Given the description of an element on the screen output the (x, y) to click on. 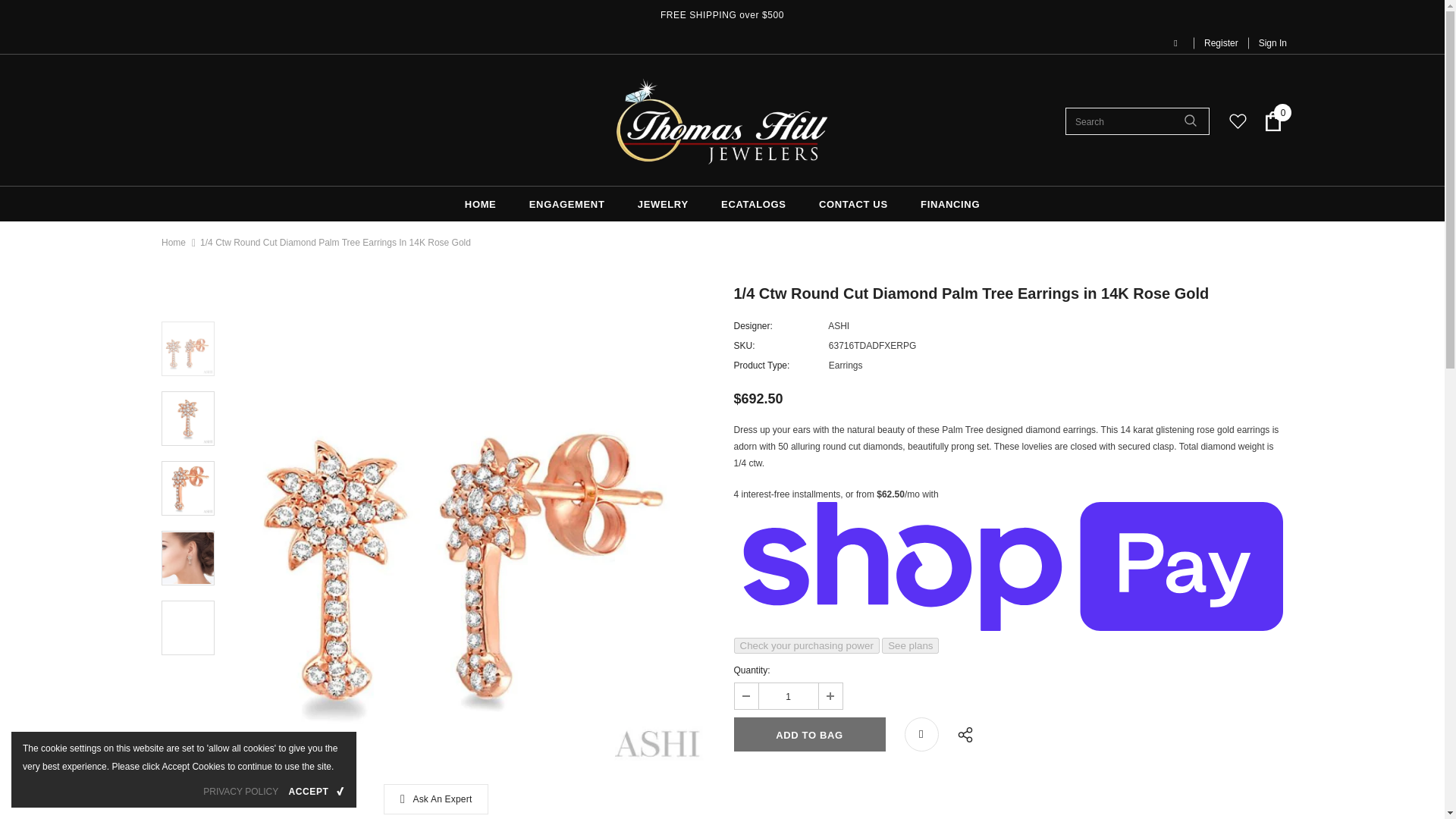
Sign In (1267, 43)
Register (1221, 43)
1 (787, 696)
Add to Bag (809, 734)
